Given the description of an element on the screen output the (x, y) to click on. 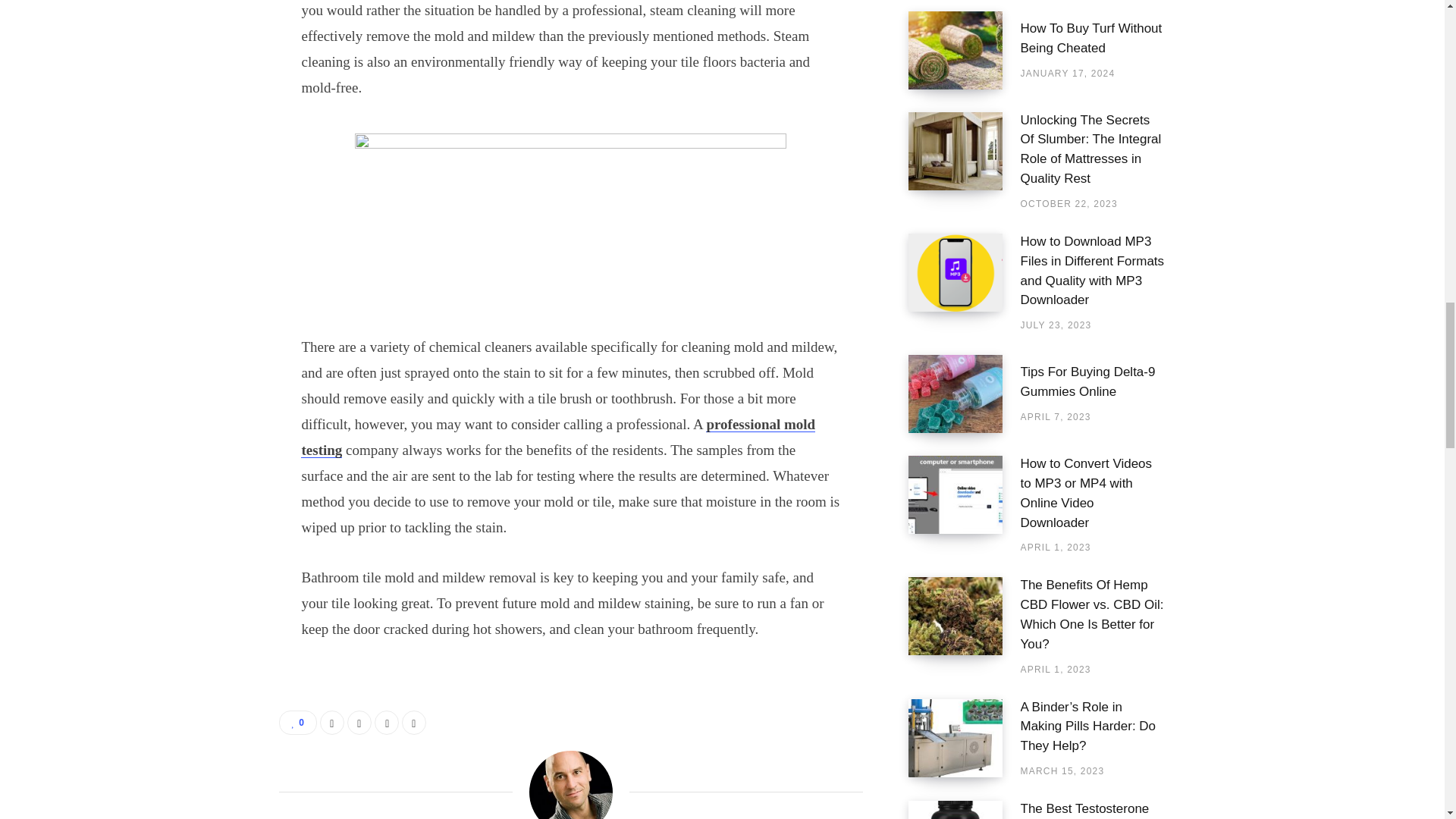
Share on Pinterest (413, 722)
0 (298, 722)
Share on Facebook (331, 722)
professional mold testing (558, 436)
Share on Twitter (359, 722)
